Given the description of an element on the screen output the (x, y) to click on. 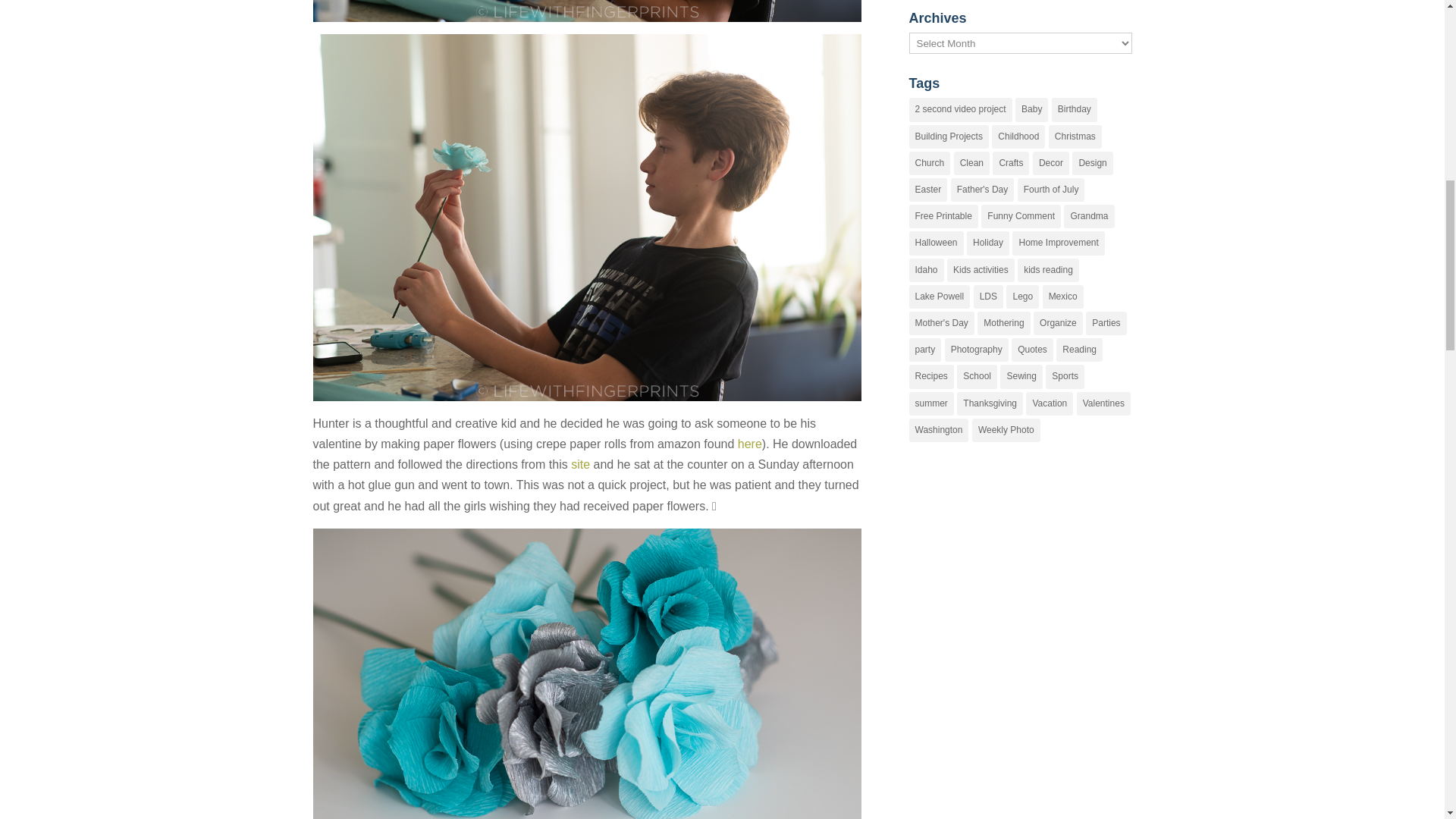
here (749, 443)
Free Printable (942, 216)
Decor (1050, 163)
Christmas (1075, 136)
2 second video project (959, 109)
Easter (927, 189)
Fourth of July (1050, 189)
Birthday (1074, 109)
Home Improvement (1057, 242)
site (579, 463)
Building Projects (948, 136)
Funny Comment (1021, 216)
Baby (1031, 109)
Father's Day (982, 189)
Grandma (1088, 216)
